Given the description of an element on the screen output the (x, y) to click on. 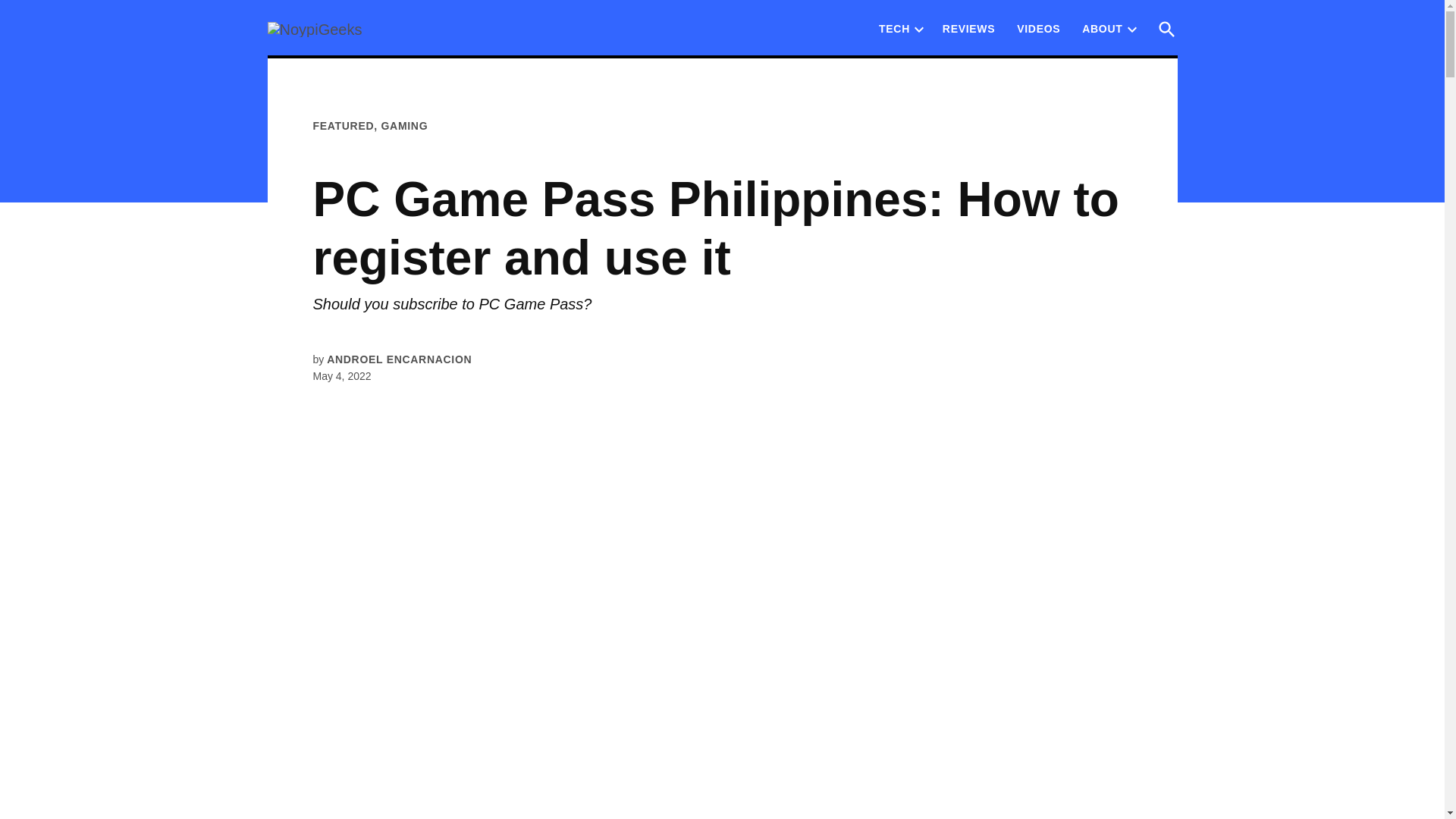
NoypiGeeks YouTube Channel (1038, 28)
TECH (894, 28)
REVIEWS (968, 28)
NoypiGeeks (421, 39)
ABOUT (1098, 28)
VIDEOS (1038, 28)
